Given the description of an element on the screen output the (x, y) to click on. 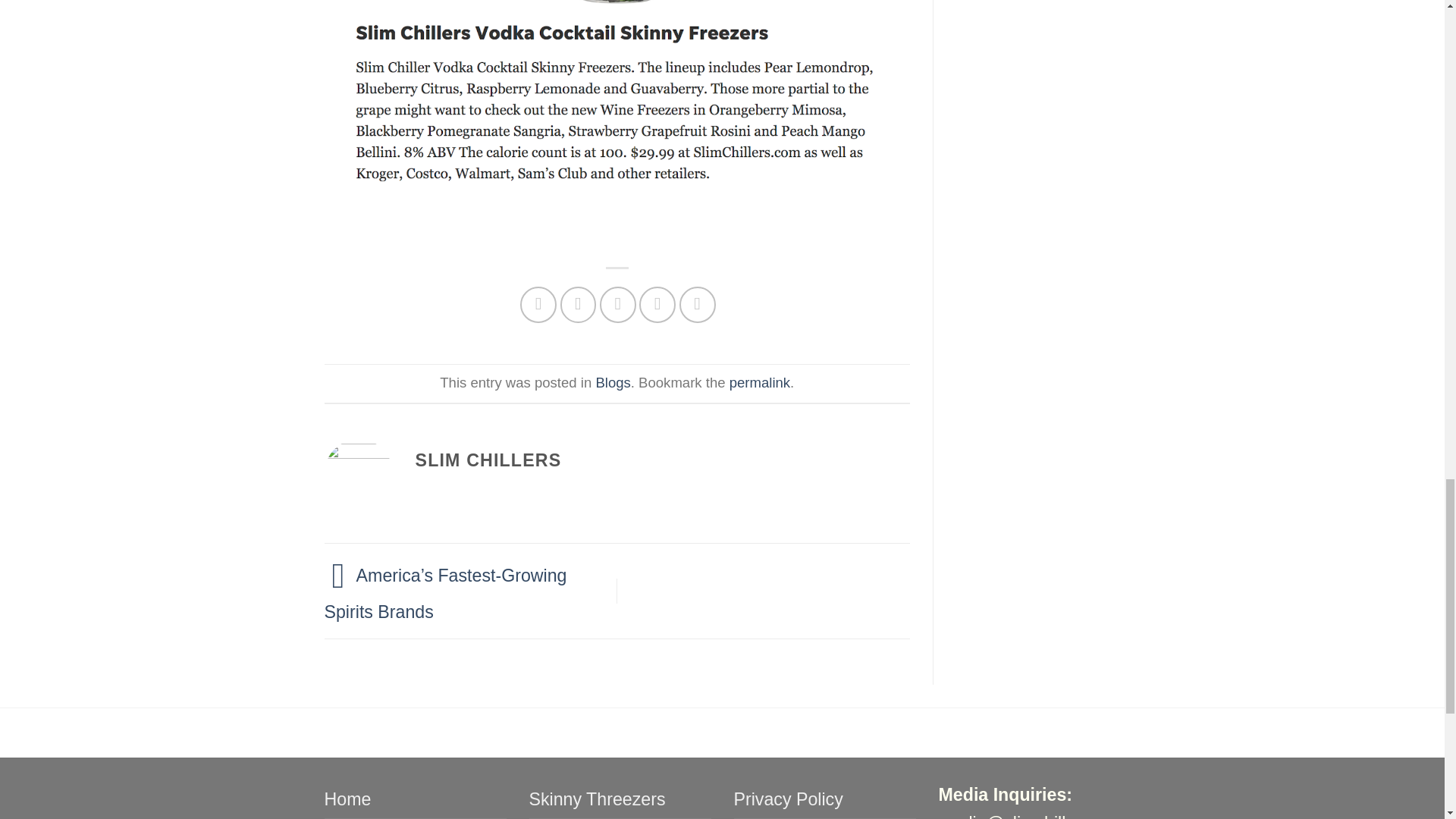
permalink (759, 382)
Blogs (612, 382)
